Given the description of an element on the screen output the (x, y) to click on. 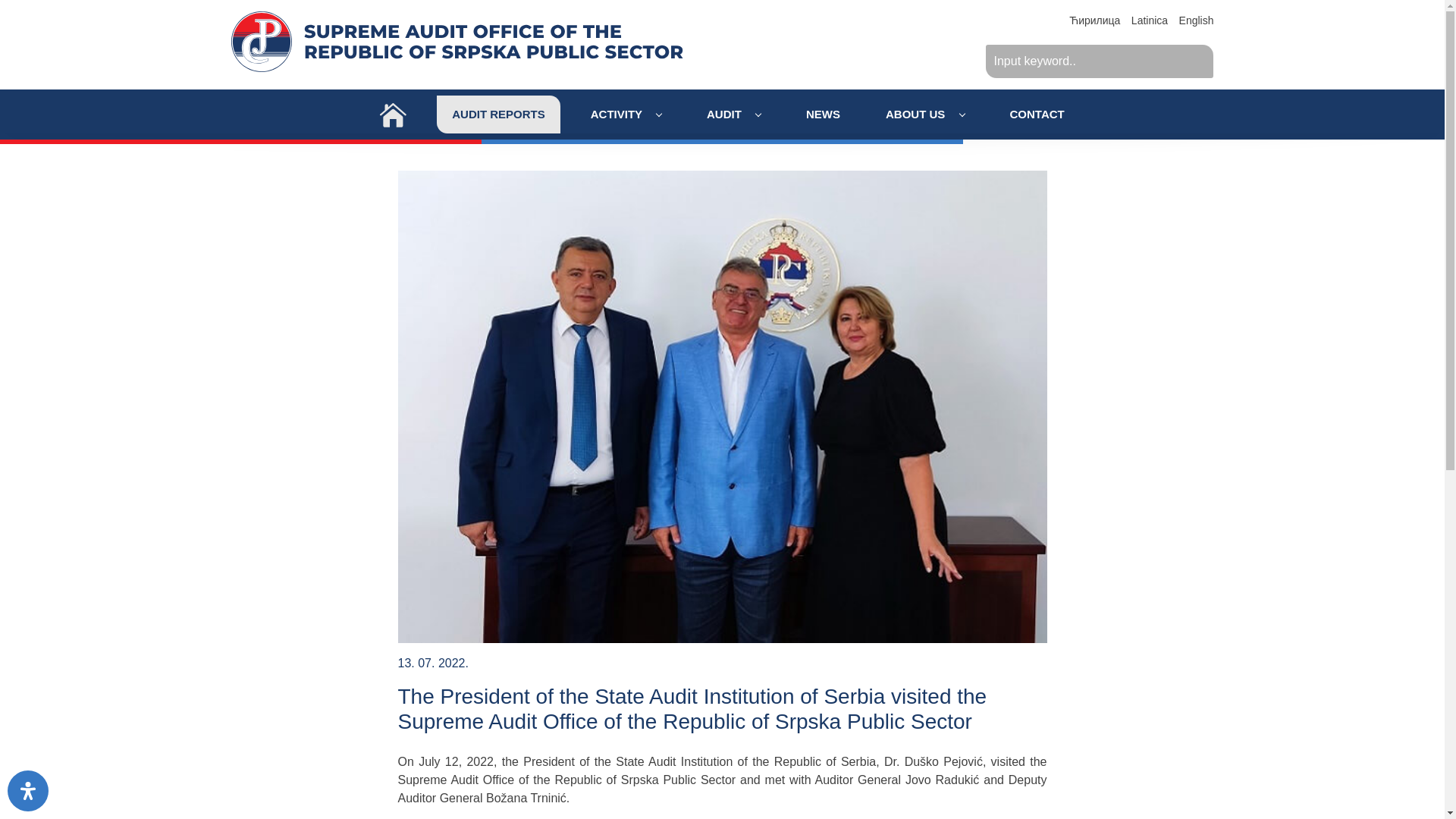
AUDIT REPORTS (498, 114)
Accessibility (27, 790)
ABOUT US (924, 114)
CONTACT (1037, 114)
English (1196, 20)
Latinica (1149, 20)
NEWS (823, 114)
ACTIVITY (626, 114)
AUDIT (733, 114)
